Given the description of an element on the screen output the (x, y) to click on. 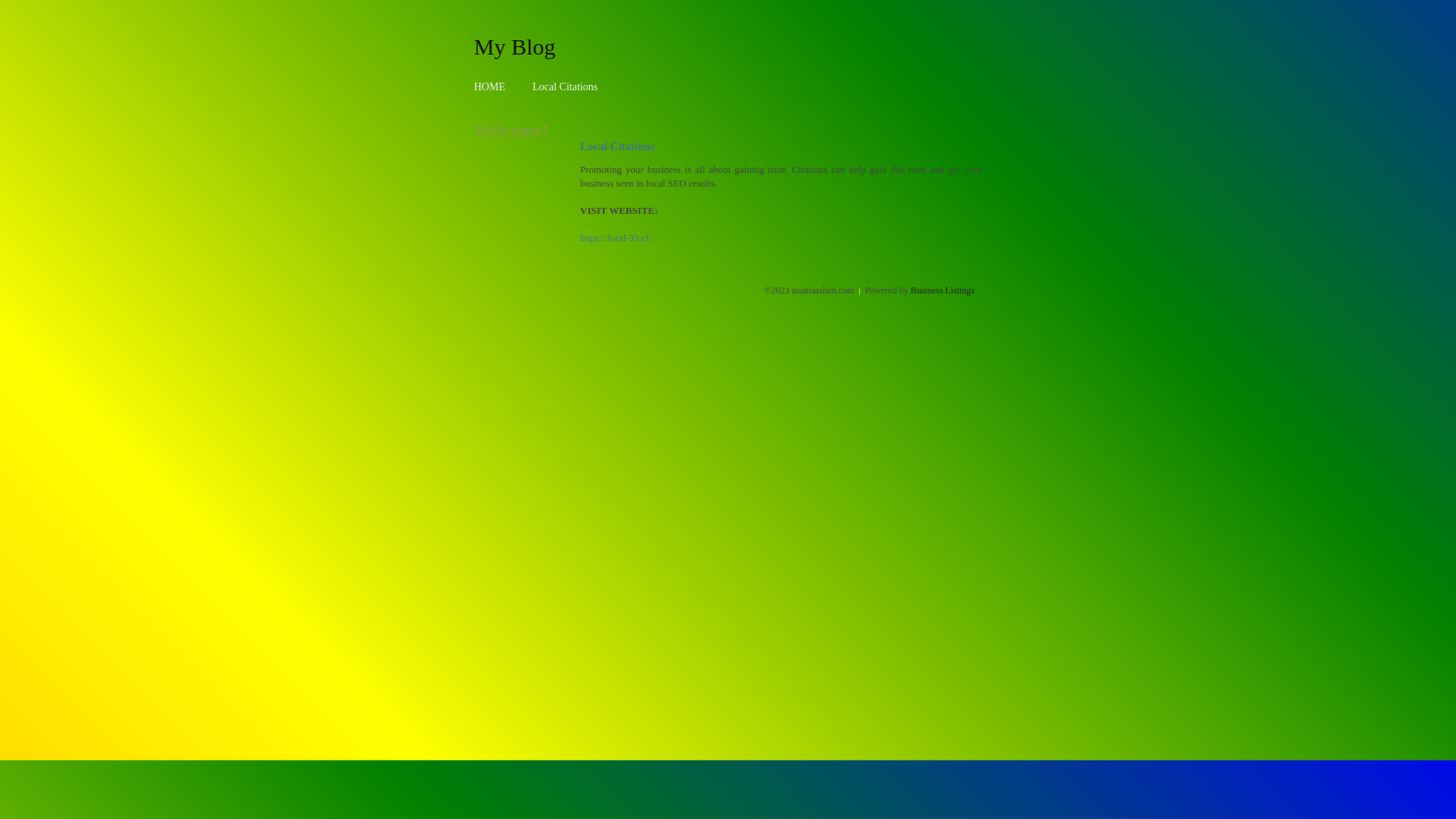
My Blog Element type: text (514, 46)
HOME Element type: text (489, 86)
https://food-93.cf/ Element type: text (615, 237)
Business Listings Element type: text (942, 290)
Local Citations Element type: text (564, 86)
